Given the description of an element on the screen output the (x, y) to click on. 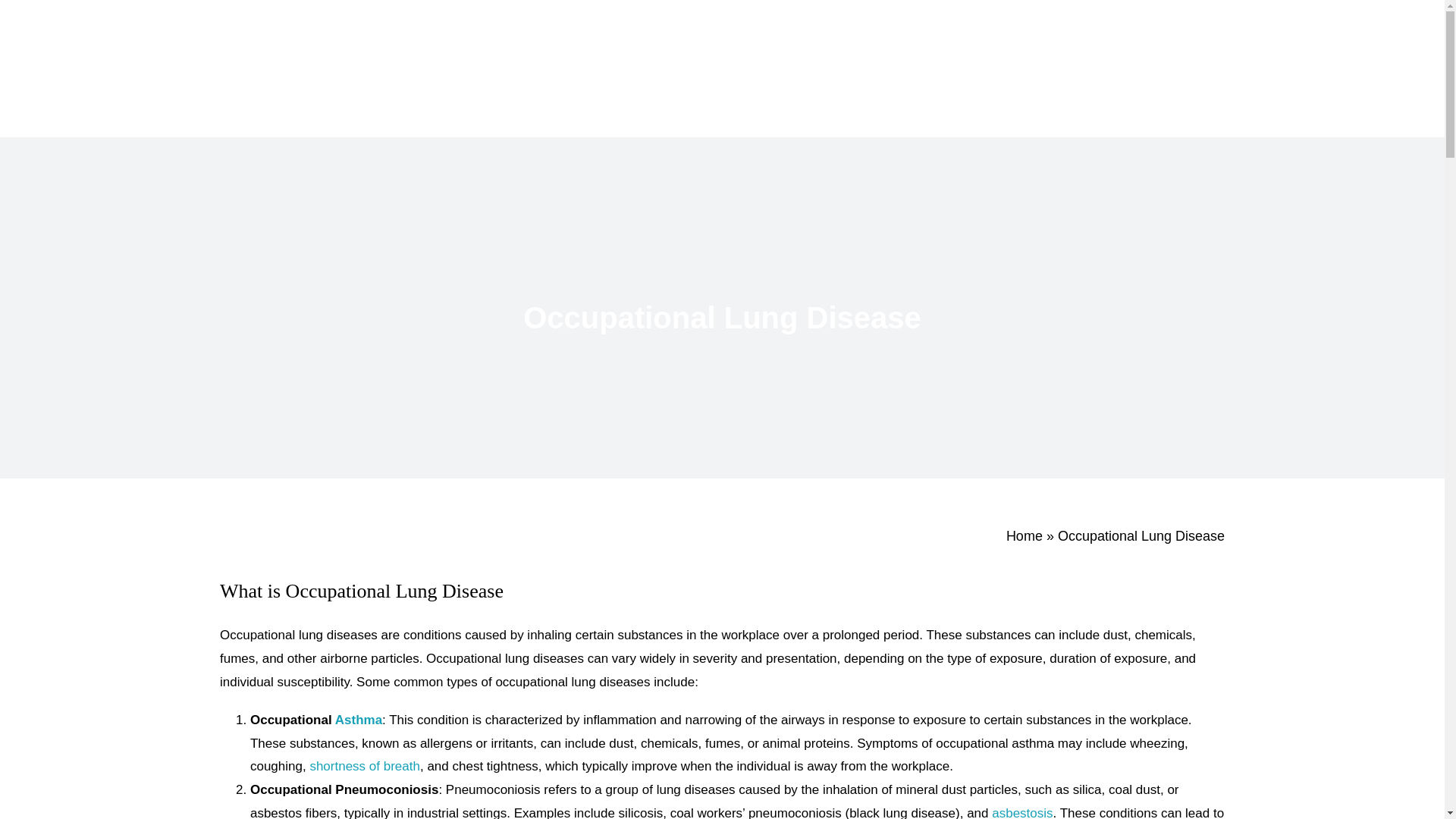
Home (1024, 535)
asbestosis (1021, 812)
Asthma (357, 719)
shortness of breath (364, 766)
